Given the description of an element on the screen output the (x, y) to click on. 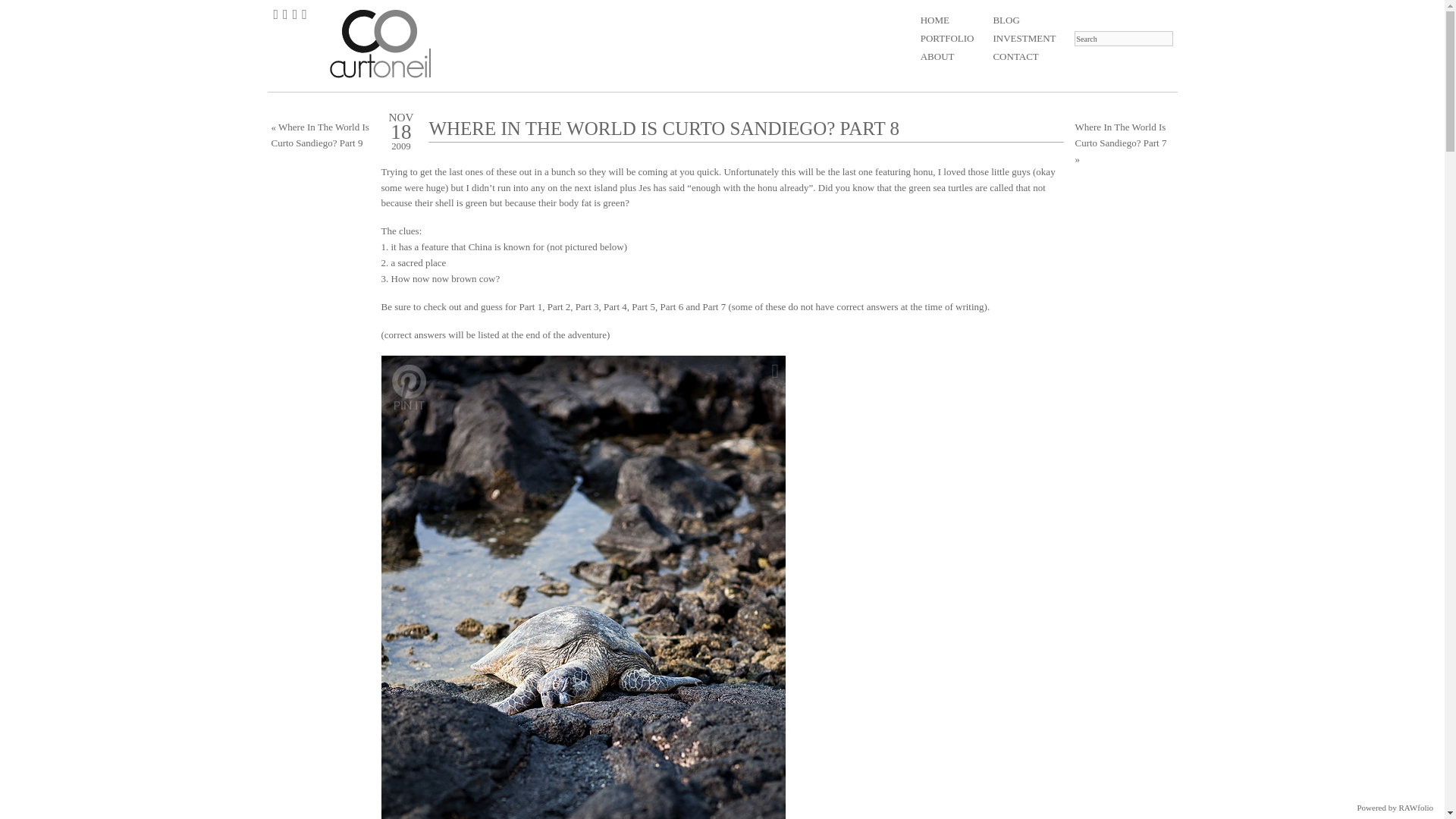
Where In The World Is Curto Sandiego - Part 3 (586, 306)
Where In The World Is Curto Sandiego - Part 1 (529, 306)
CONTACT (1023, 56)
INVESTMENT (1023, 38)
Where In The World Is Curto Sandiego - Part 4 (615, 306)
Where In The World Is Curto Sandiego - Part 6 (670, 306)
ABOUT (947, 56)
Search (1123, 38)
Part 6 (670, 306)
Part 3 (586, 306)
Part 1 (529, 306)
Where In The World Is Curto Sandiego - Part 2 (558, 306)
BLOG (1023, 20)
Where In The World Is Curto Sandiego - Part 5 (643, 306)
Part 7 (713, 306)
